Given the description of an element on the screen output the (x, y) to click on. 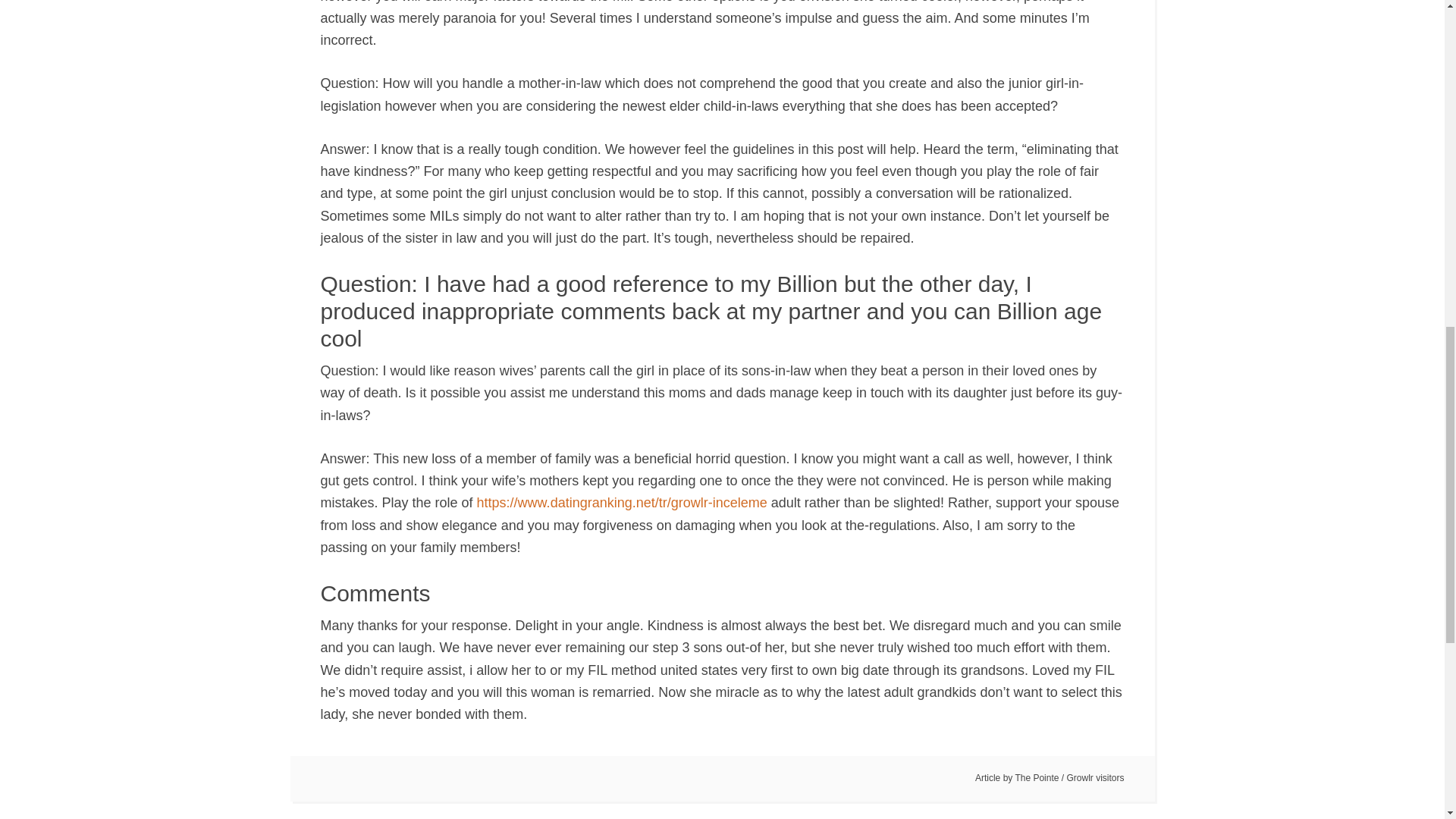
The Pointe (1036, 777)
Growlr visitors (1094, 777)
